Given the description of an element on the screen output the (x, y) to click on. 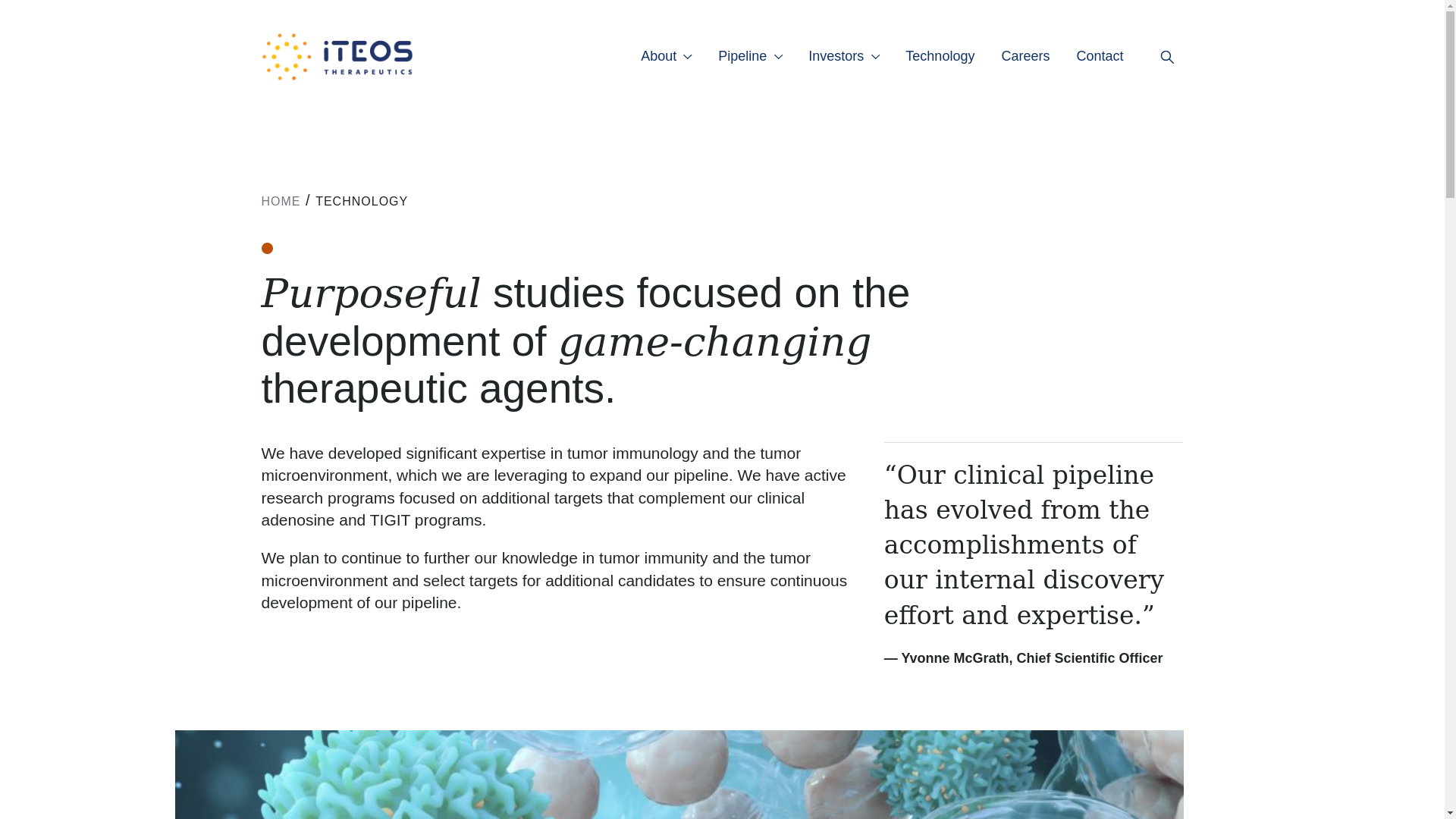
Investors (837, 56)
Careers (1026, 56)
Contact (1100, 56)
About (659, 56)
Technology (941, 56)
Pipeline (743, 56)
